Given the description of an element on the screen output the (x, y) to click on. 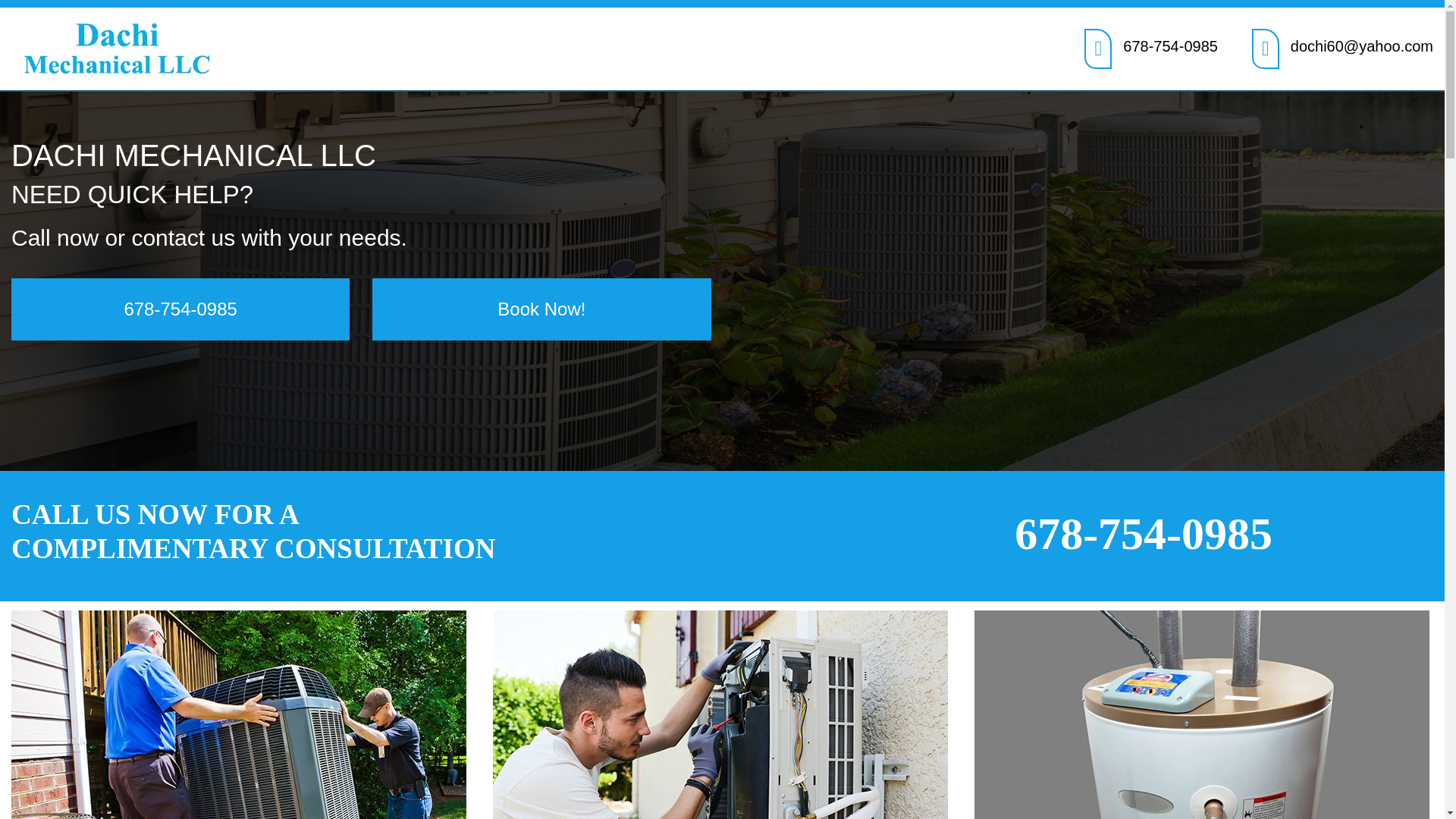
Book Now! (541, 309)
678-754-0985 (180, 309)
678-754-0985 (1169, 45)
678-754-0985 (1142, 533)
